Given the description of an element on the screen output the (x, y) to click on. 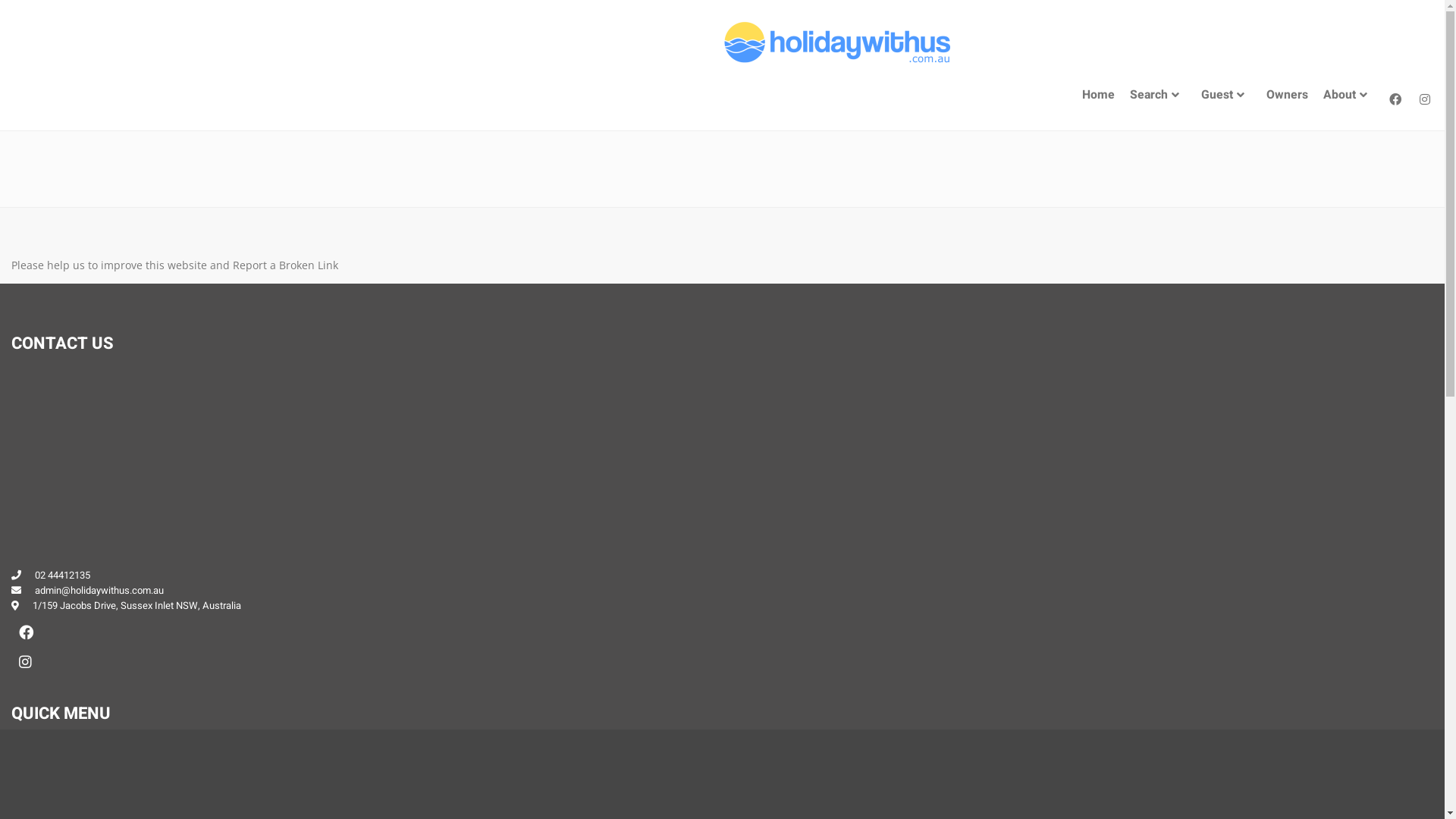
Guest Element type: text (1226, 94)
02 44412135 Element type: text (62, 574)
Holiday With Us Element type: hover (835, 41)
About Element type: text (1348, 94)
Home Element type: text (1098, 94)
Owners Element type: text (1287, 94)
Search Element type: text (1157, 94)
1/159 Jacobs Drive, Sussex Inlet NSW, Australia Element type: text (136, 605)
admin@holidaywithus.com.au Element type: text (98, 590)
